Given the description of an element on the screen output the (x, y) to click on. 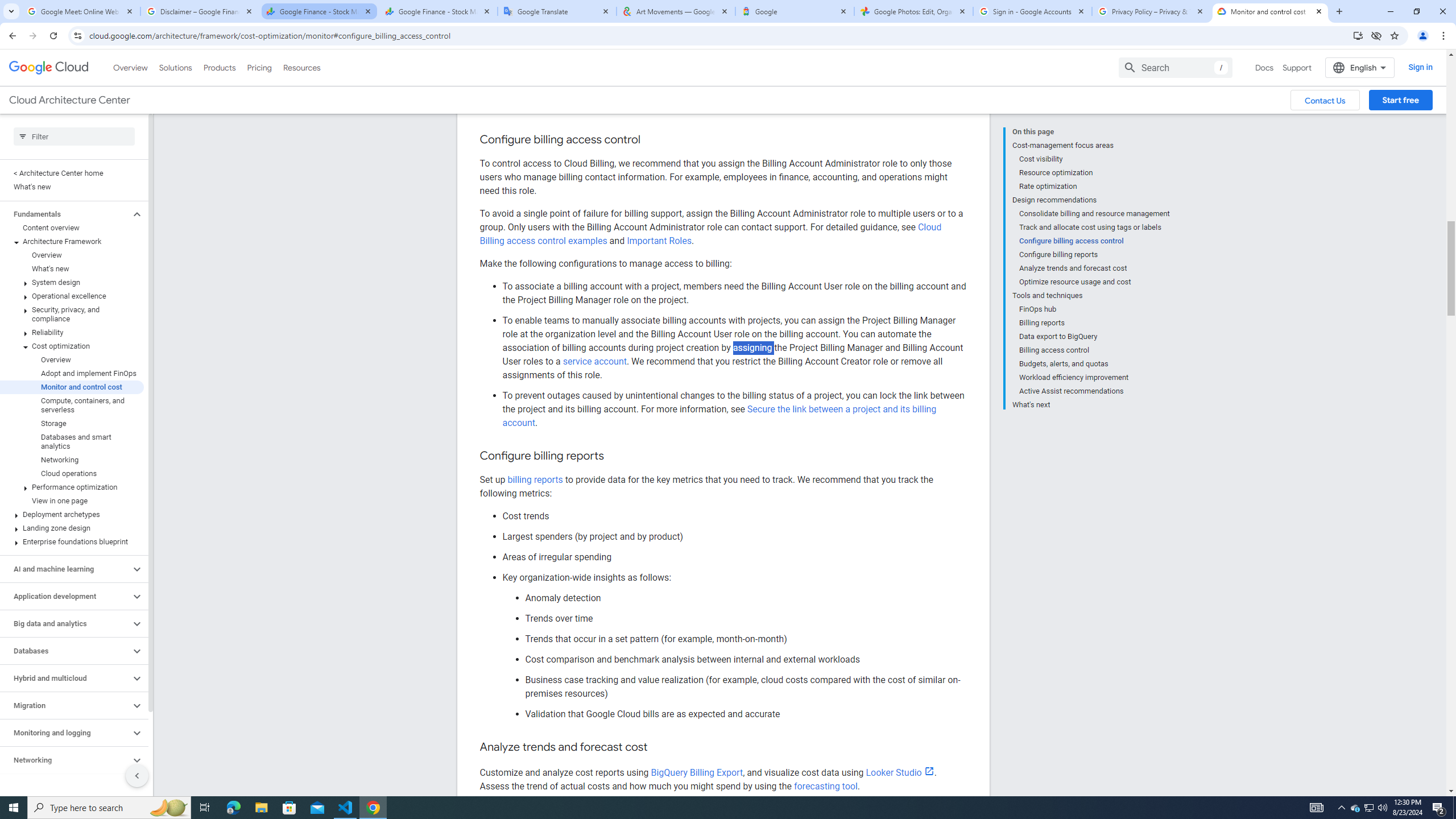
Looker Studio (900, 772)
< Architecture Center home (72, 124)
Start free (1400, 50)
Landing zone design (72, 478)
FinOps hub (1094, 259)
Active Assist recommendations (1094, 341)
English (1359, 18)
Compute, containers, and serverless (72, 355)
Resources (301, 18)
forecasting tool (825, 785)
Cloud Architecture Center (68, 50)
Copy link to this section: Configure billing access control (650, 90)
